Given the description of an element on the screen output the (x, y) to click on. 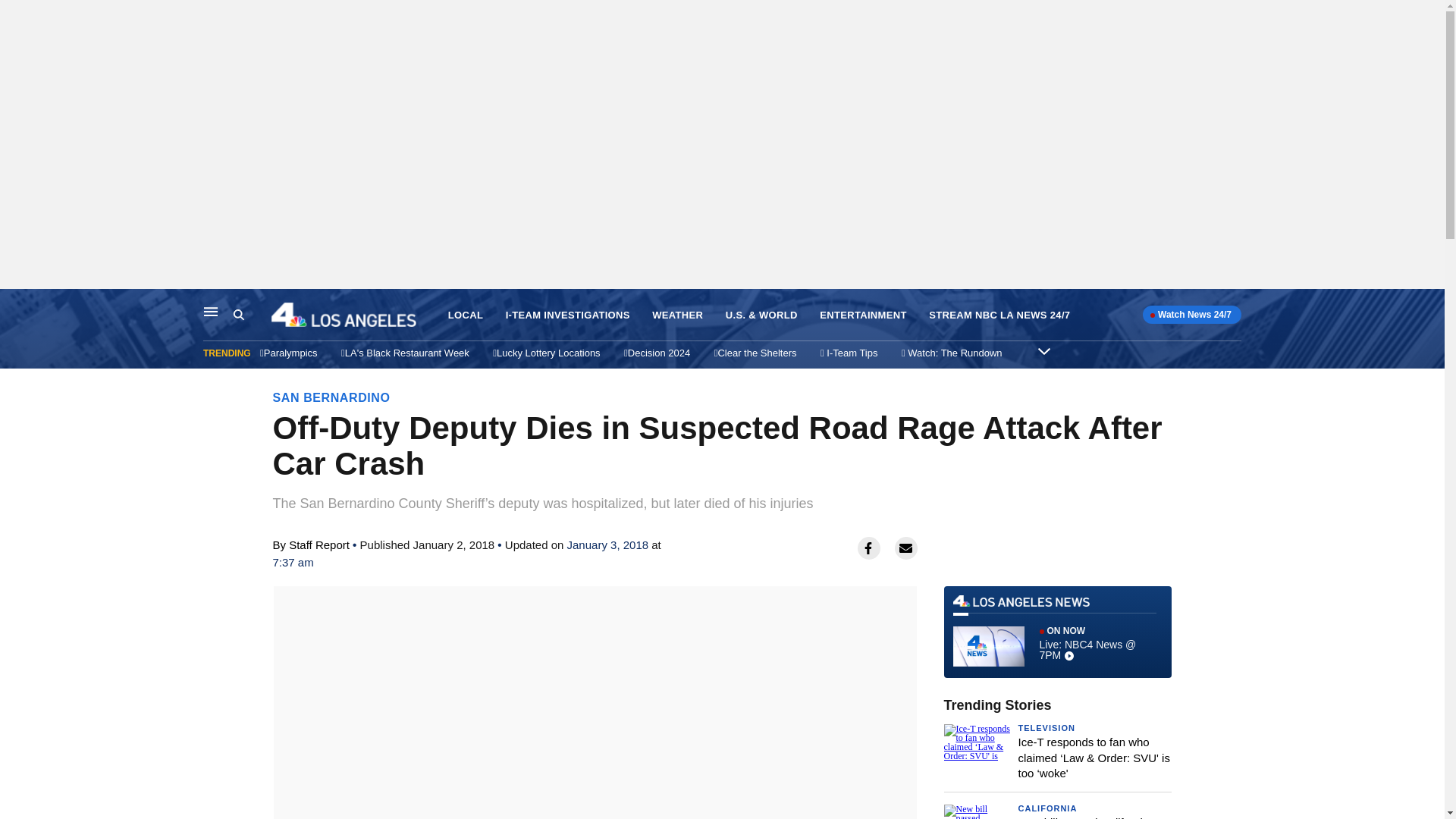
Skip to content (16, 304)
ENTERTAINMENT (863, 315)
TELEVISION (1045, 727)
I-TEAM INVESTIGATIONS (567, 315)
CALIFORNIA (1047, 808)
Expand (1043, 350)
Main Navigation (210, 311)
Search (238, 314)
Search (252, 314)
SAN BERNARDINO (331, 397)
